Given the description of an element on the screen output the (x, y) to click on. 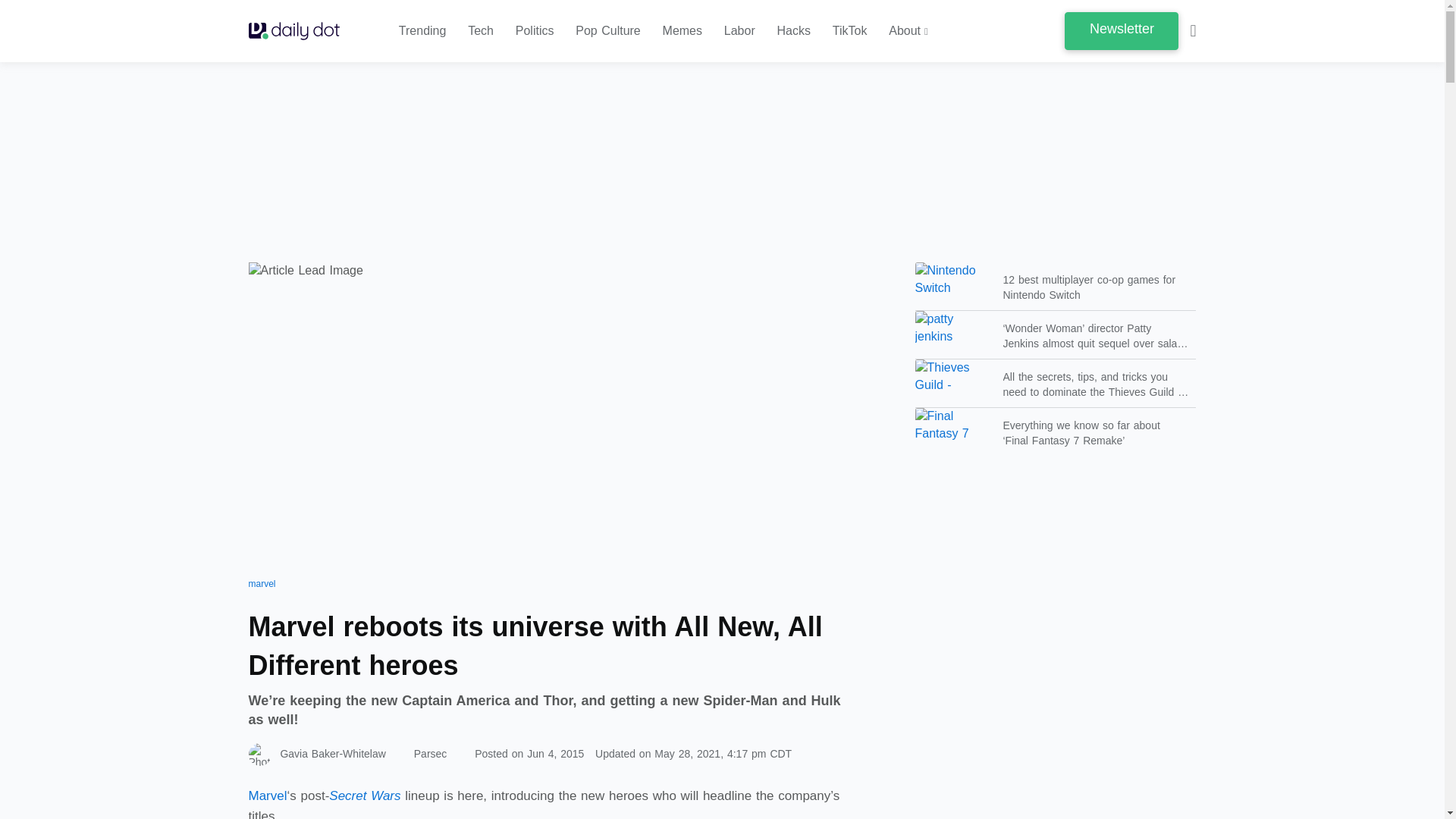
Labor (739, 31)
TikTok (849, 31)
Pop Culture (607, 31)
Memes (681, 31)
Hacks (793, 31)
Newsletter (1120, 30)
About (908, 31)
Politics (534, 31)
Trending (422, 31)
Tech (480, 31)
